Given the description of an element on the screen output the (x, y) to click on. 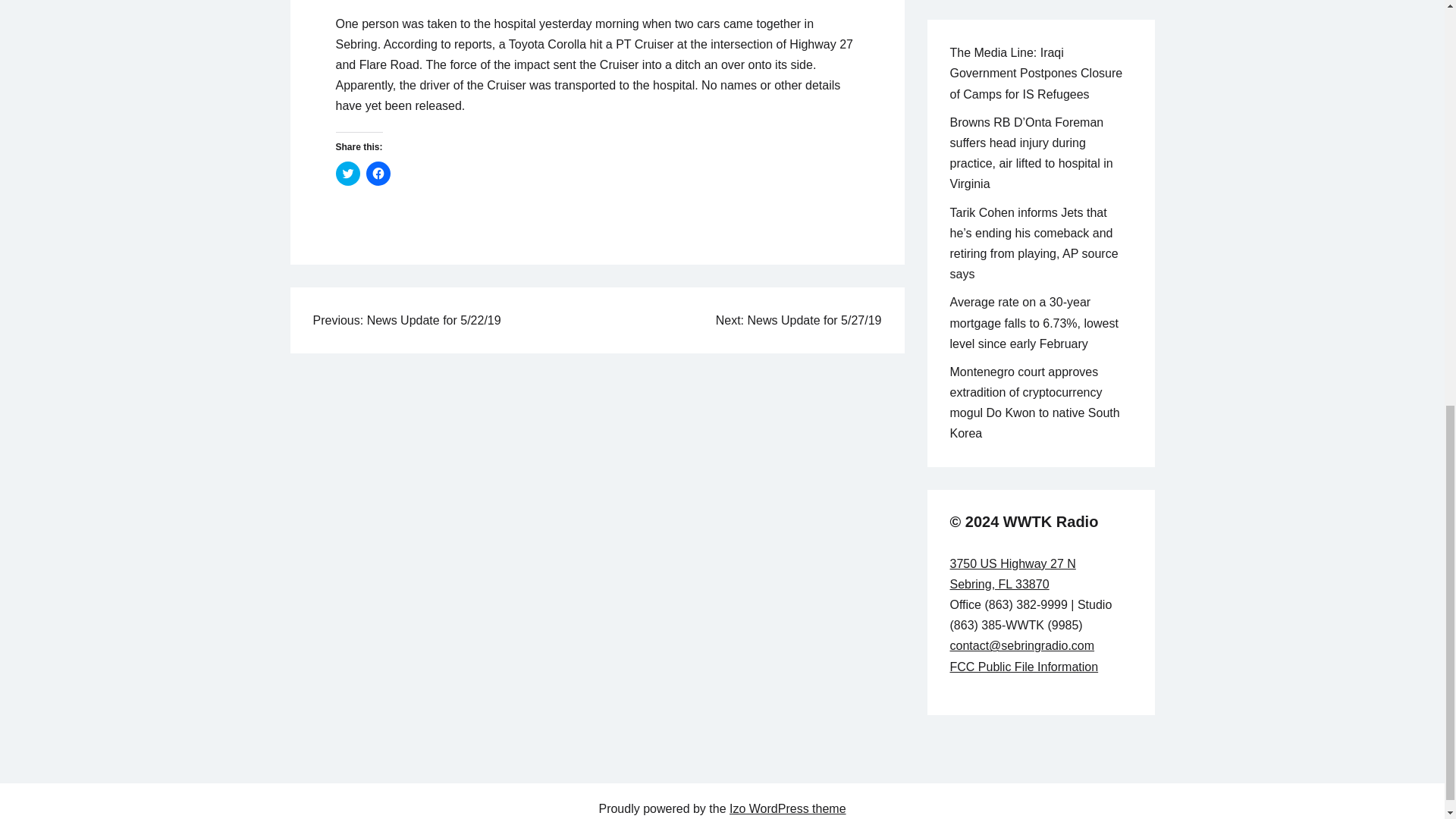
Click to share on Twitter (346, 173)
Click to share on Facebook (377, 173)
